Given the description of an element on the screen output the (x, y) to click on. 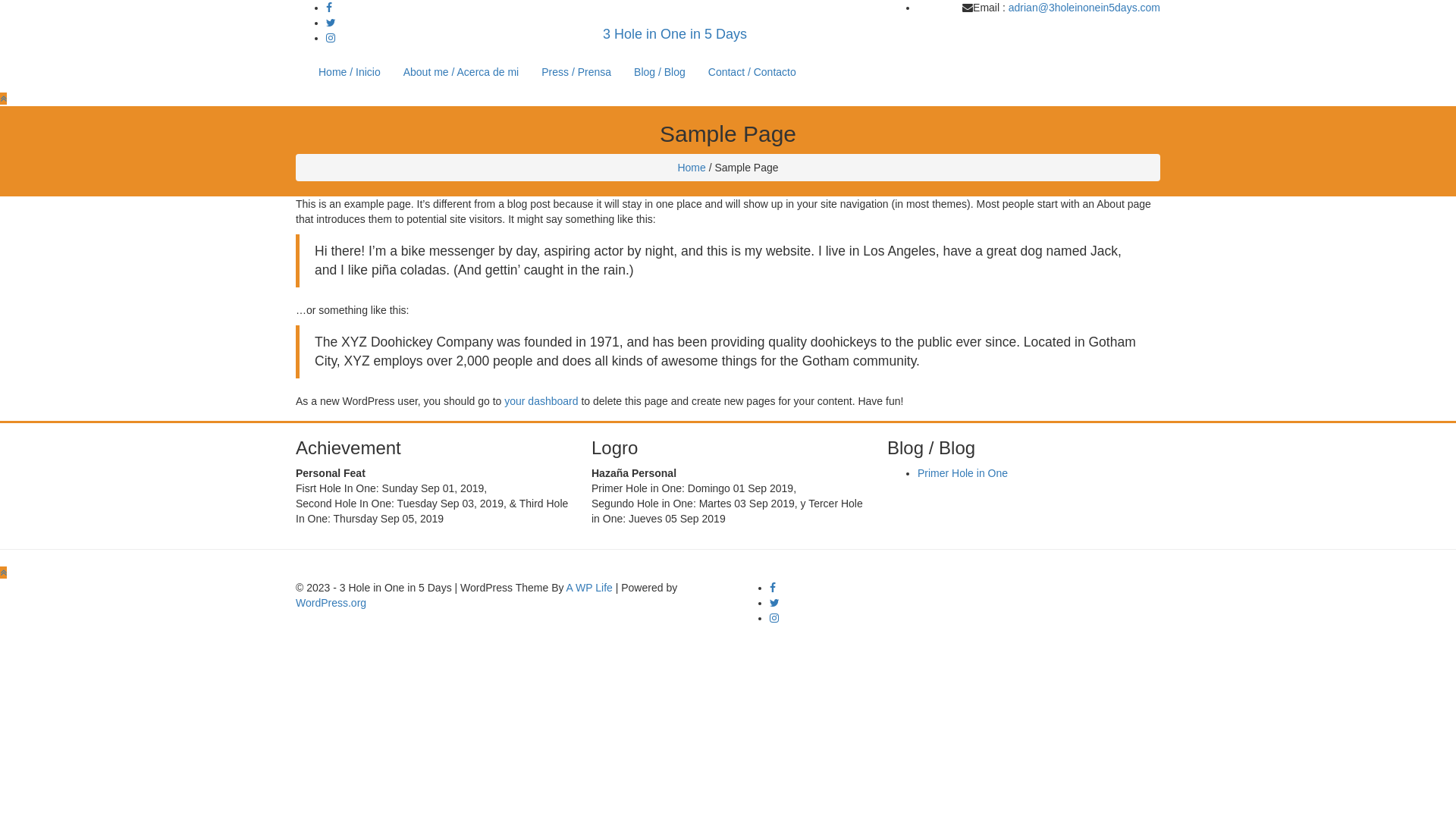
Blog / Blog Element type: text (659, 72)
your dashboard Element type: text (540, 401)
Primer Hole in One Element type: text (962, 473)
WordPress.org Element type: text (330, 602)
adrian@3holeinonein5days.com Element type: text (1084, 7)
3 Hole in One in 5 Days Element type: text (674, 34)
Home / Inicio Element type: text (349, 72)
Press / Prensa Element type: text (576, 72)
Home Element type: text (691, 167)
Contact / Contacto Element type: text (751, 72)
A WP Life Element type: text (589, 587)
About me / Acerca de mi Element type: text (461, 72)
